Given the description of an element on the screen output the (x, y) to click on. 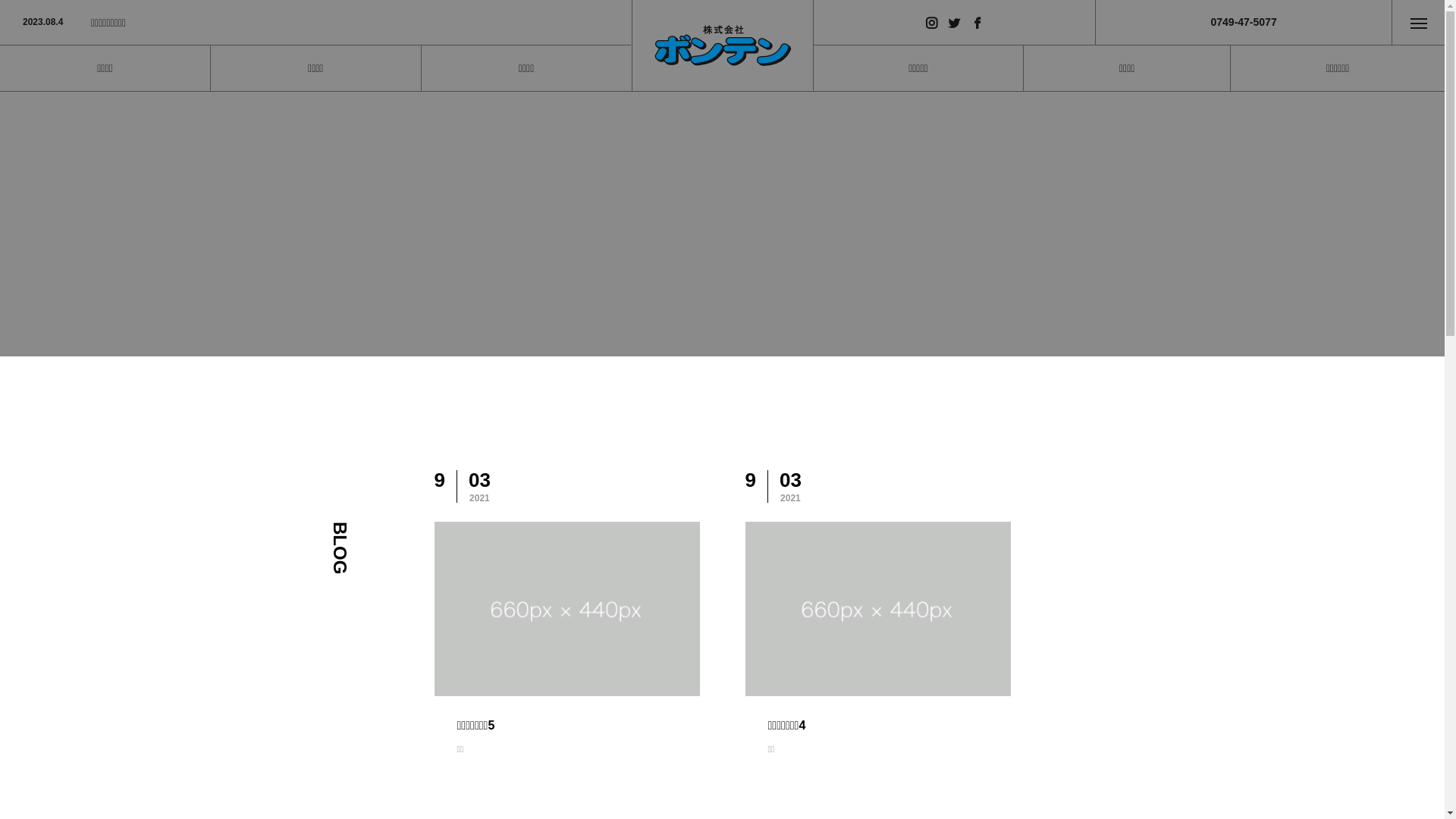
0749-47-5077 Element type: text (1243, 22)
Instagram Element type: hover (931, 22)
Facebook Element type: hover (977, 22)
Twitter Element type: hover (954, 22)
